Given the description of an element on the screen output the (x, y) to click on. 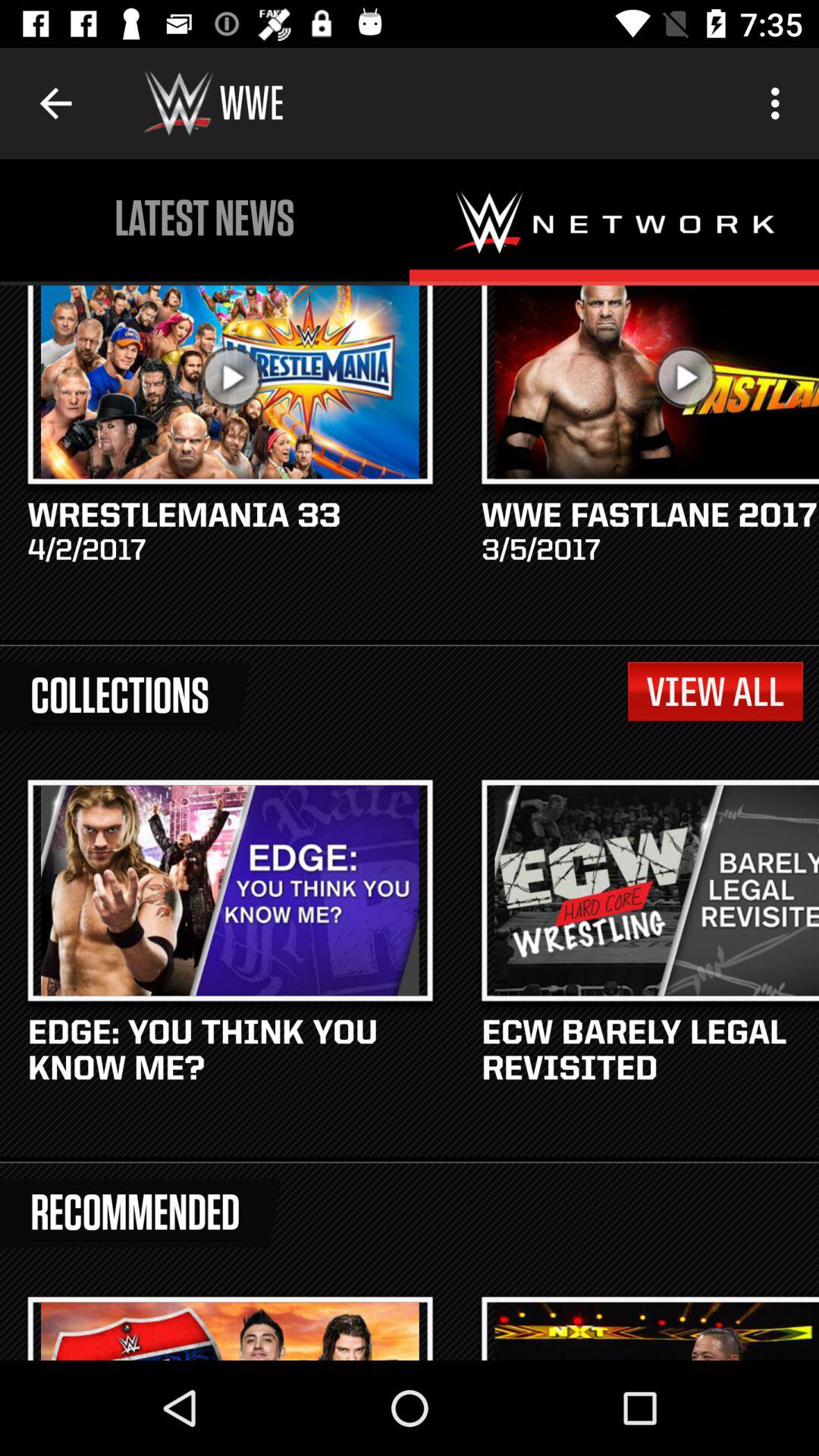
scroll until latest news item (204, 218)
